Given the description of an element on the screen output the (x, y) to click on. 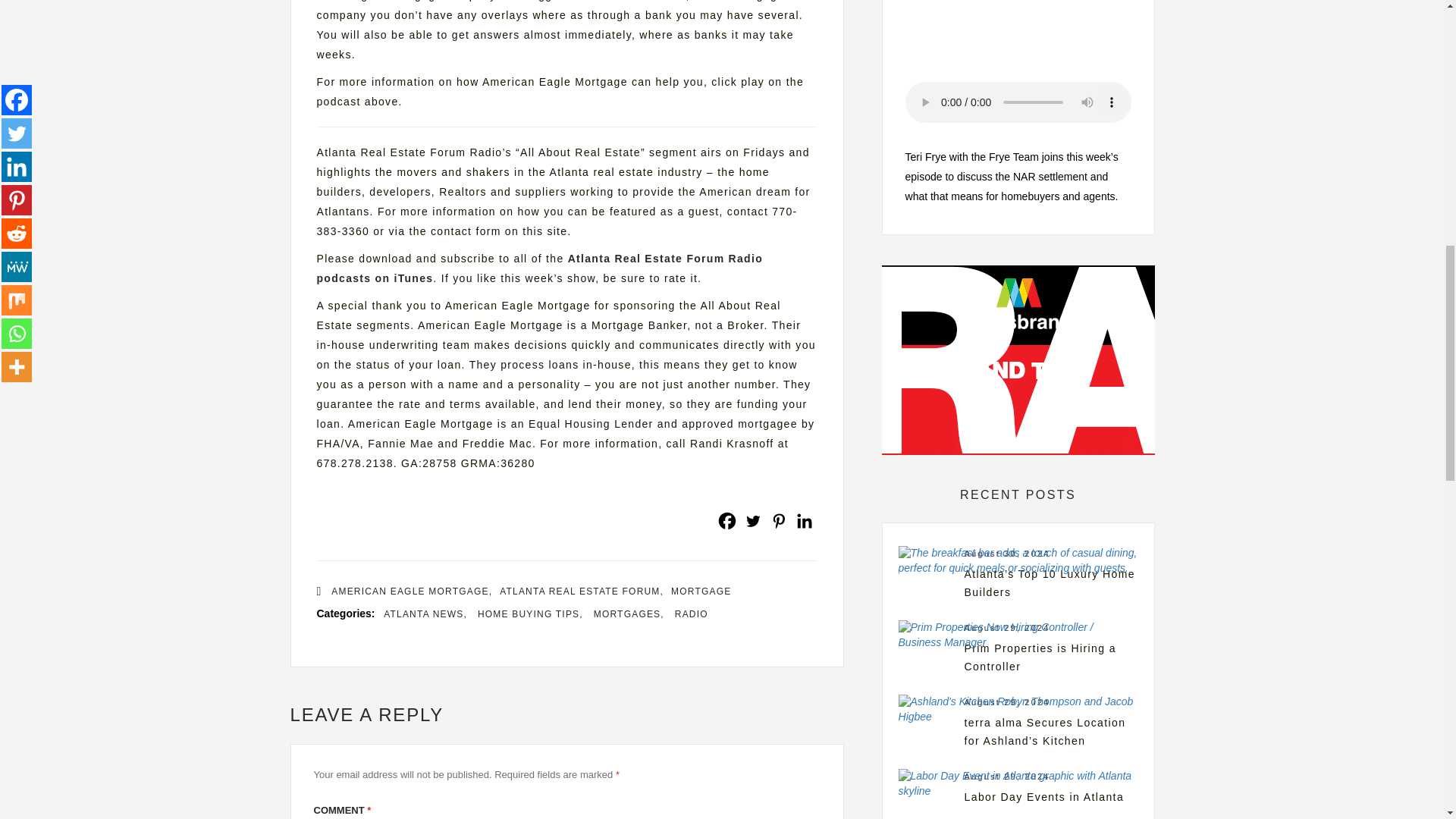
ATLANTA NEWS (425, 614)
Twitter (752, 520)
ATLANTA REAL ESTATE FORUM (581, 591)
Linkedin (804, 520)
Atlanta Real Estate Forum Radio podcasts on iTunes (539, 268)
Facebook (727, 520)
HOME BUYING TIPS (530, 614)
Pinterest (778, 520)
MORTGAGES (628, 614)
AMERICAN EAGLE MORTGAGE (411, 591)
